Given the description of an element on the screen output the (x, y) to click on. 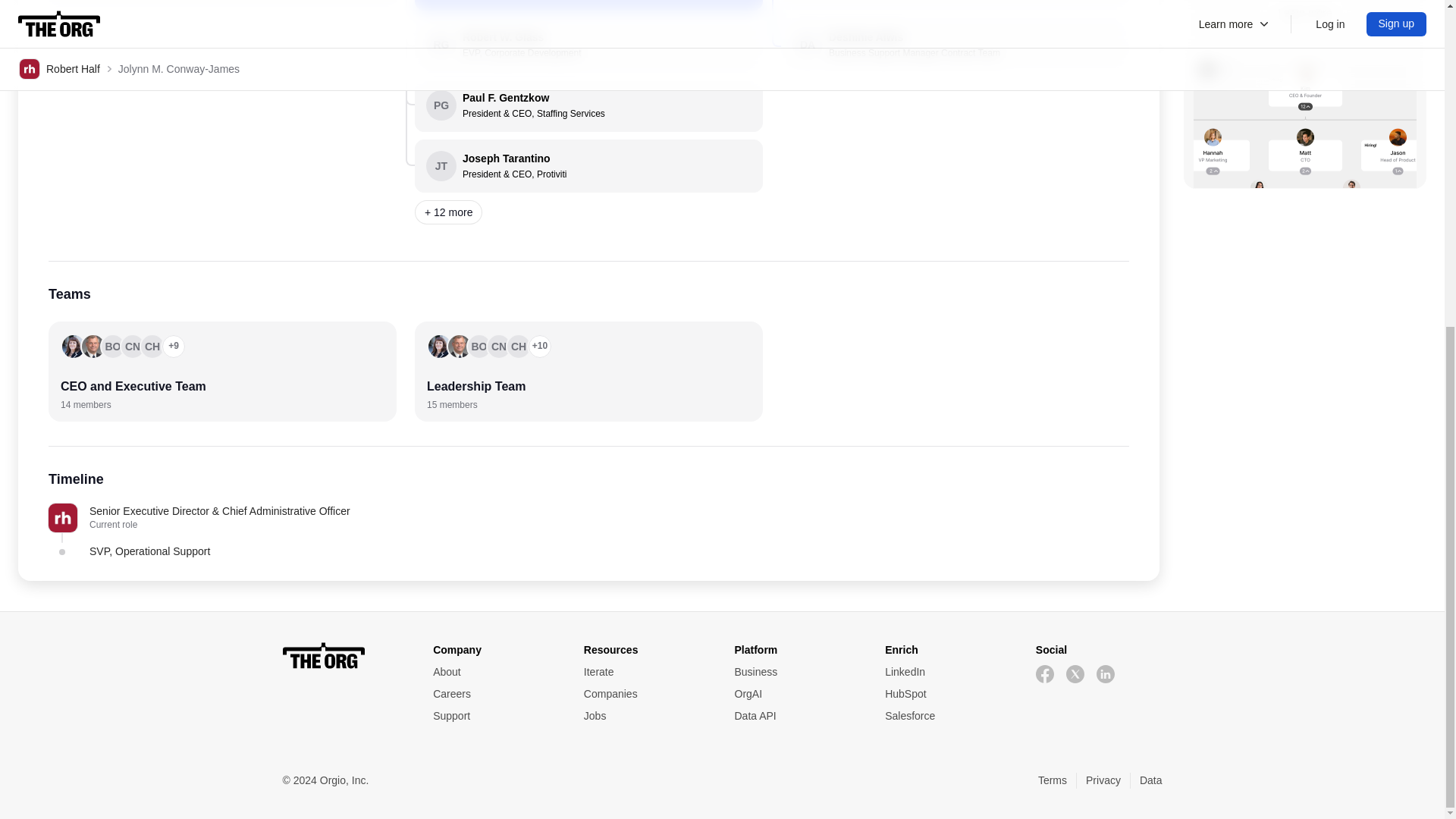
Jobs (646, 715)
The Org logo (345, 655)
OrgAI (796, 693)
Facebook (1044, 673)
Data API (588, 44)
Companies (796, 715)
OrgAI (646, 693)
LinkedIn (796, 693)
